Given the description of an element on the screen output the (x, y) to click on. 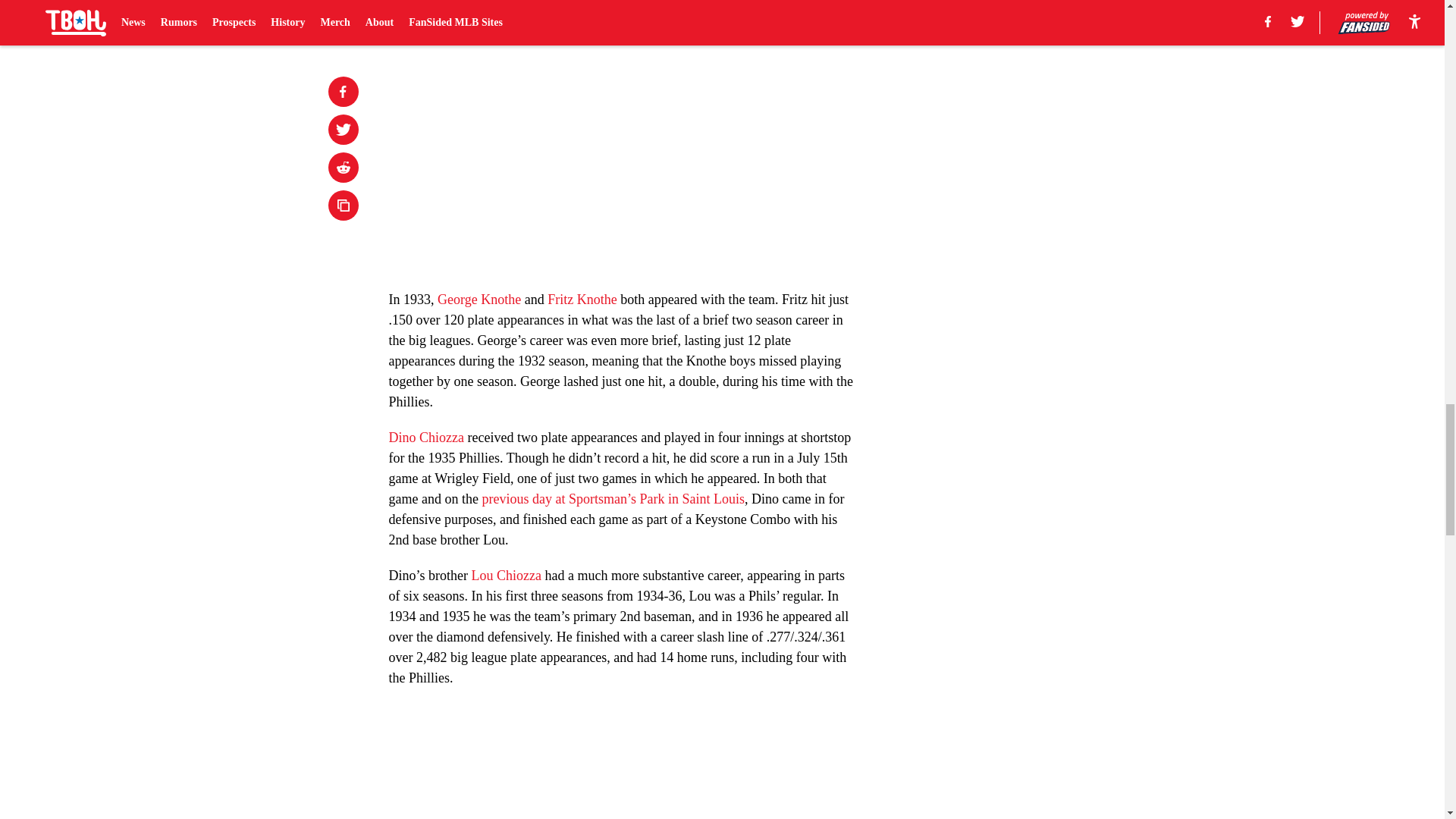
George Knothe (479, 299)
Fritz Knothe (582, 299)
Dino Chiozza (425, 437)
Lou Chiozza (505, 575)
